Given the description of an element on the screen output the (x, y) to click on. 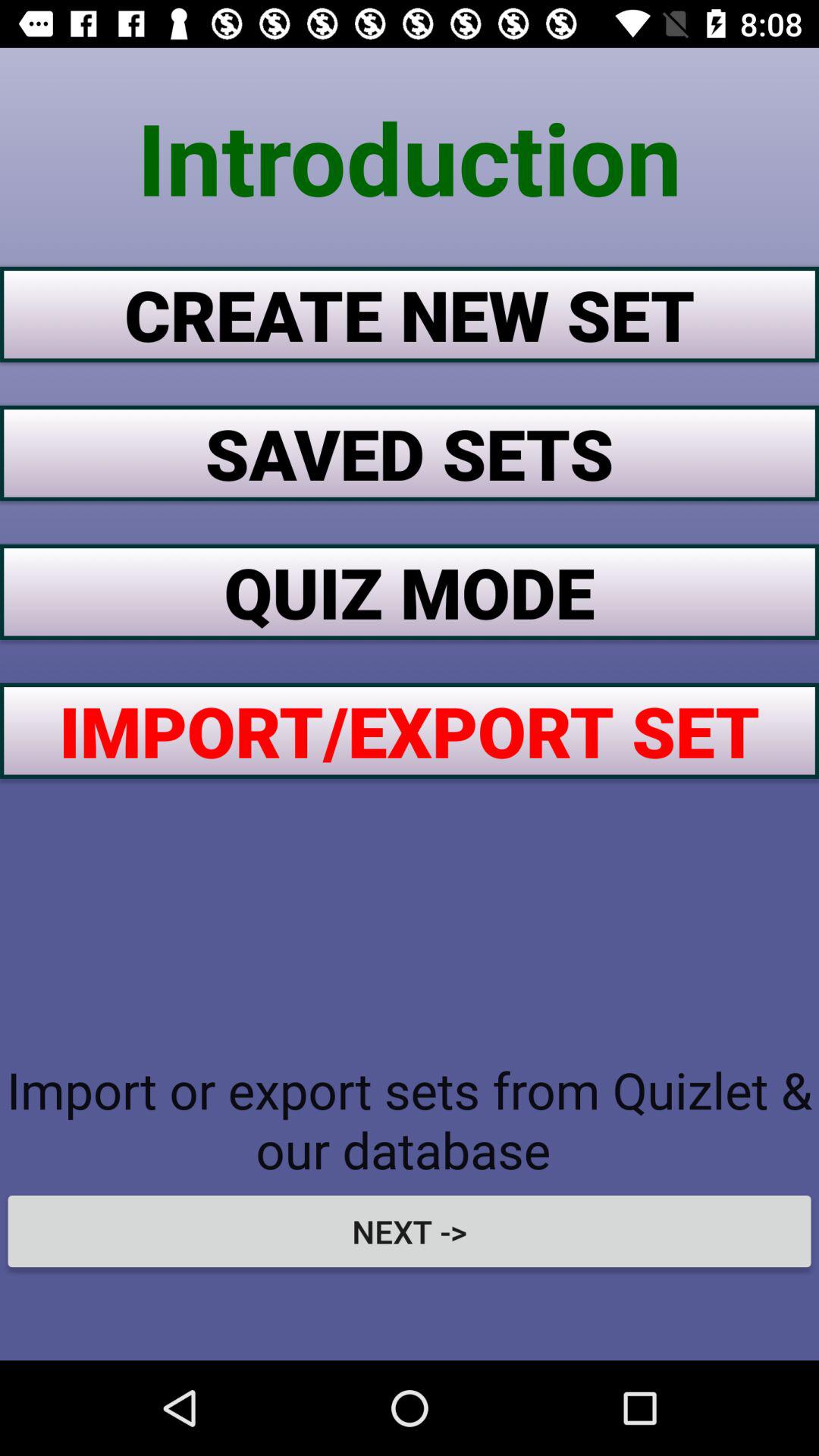
turn off item above saved sets button (409, 314)
